Given the description of an element on the screen output the (x, y) to click on. 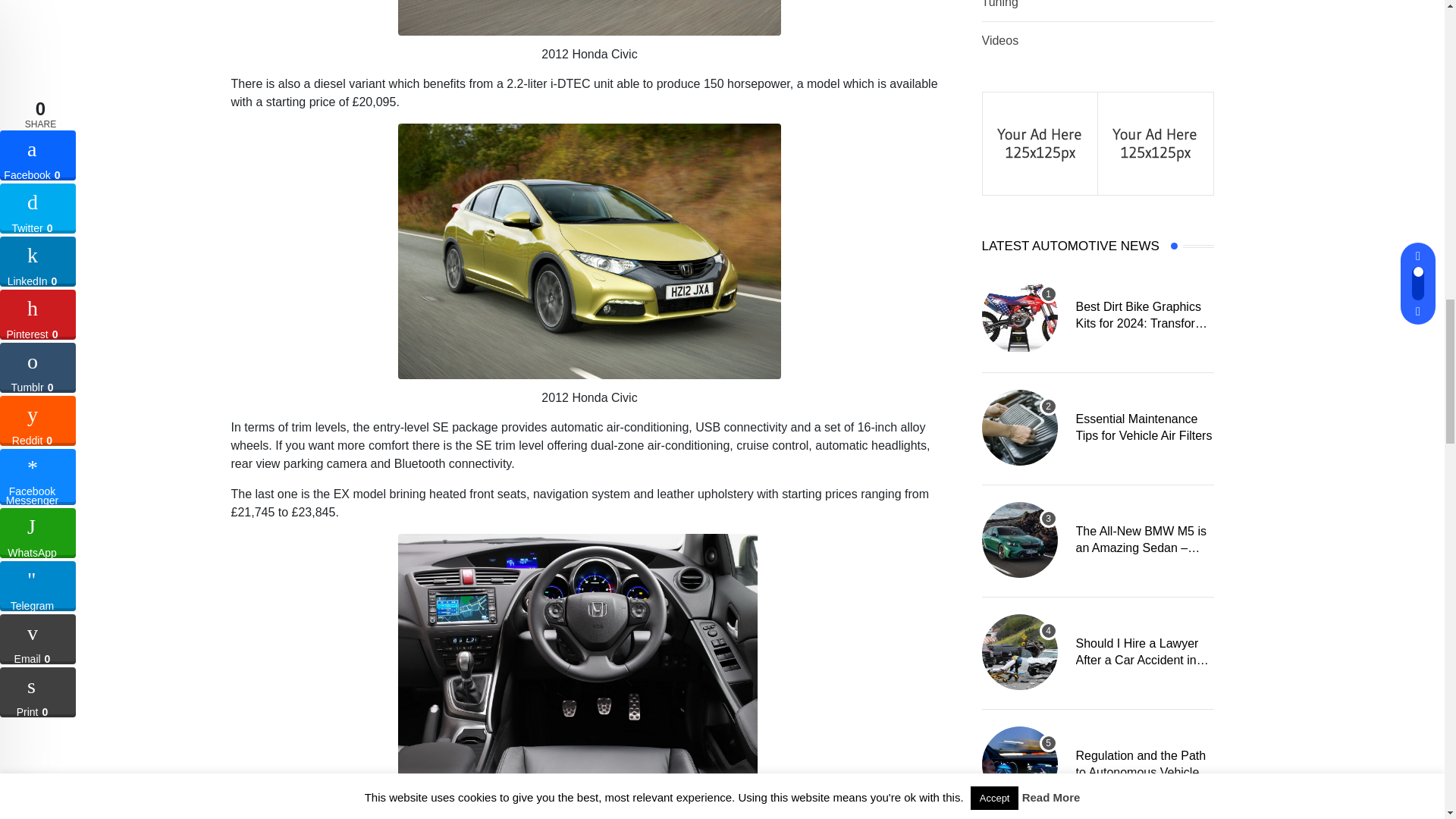
Should I Hire a Lawyer After a Car Accident in Dallas, TX? (1019, 652)
Advertise (1155, 141)
Advertise (1039, 141)
Best Dirt Bike Graphics Kits for 2024: Transform Your Ride (1019, 314)
Essential Maintenance Tips for Vehicle Air Filters (1019, 427)
